Given the description of an element on the screen output the (x, y) to click on. 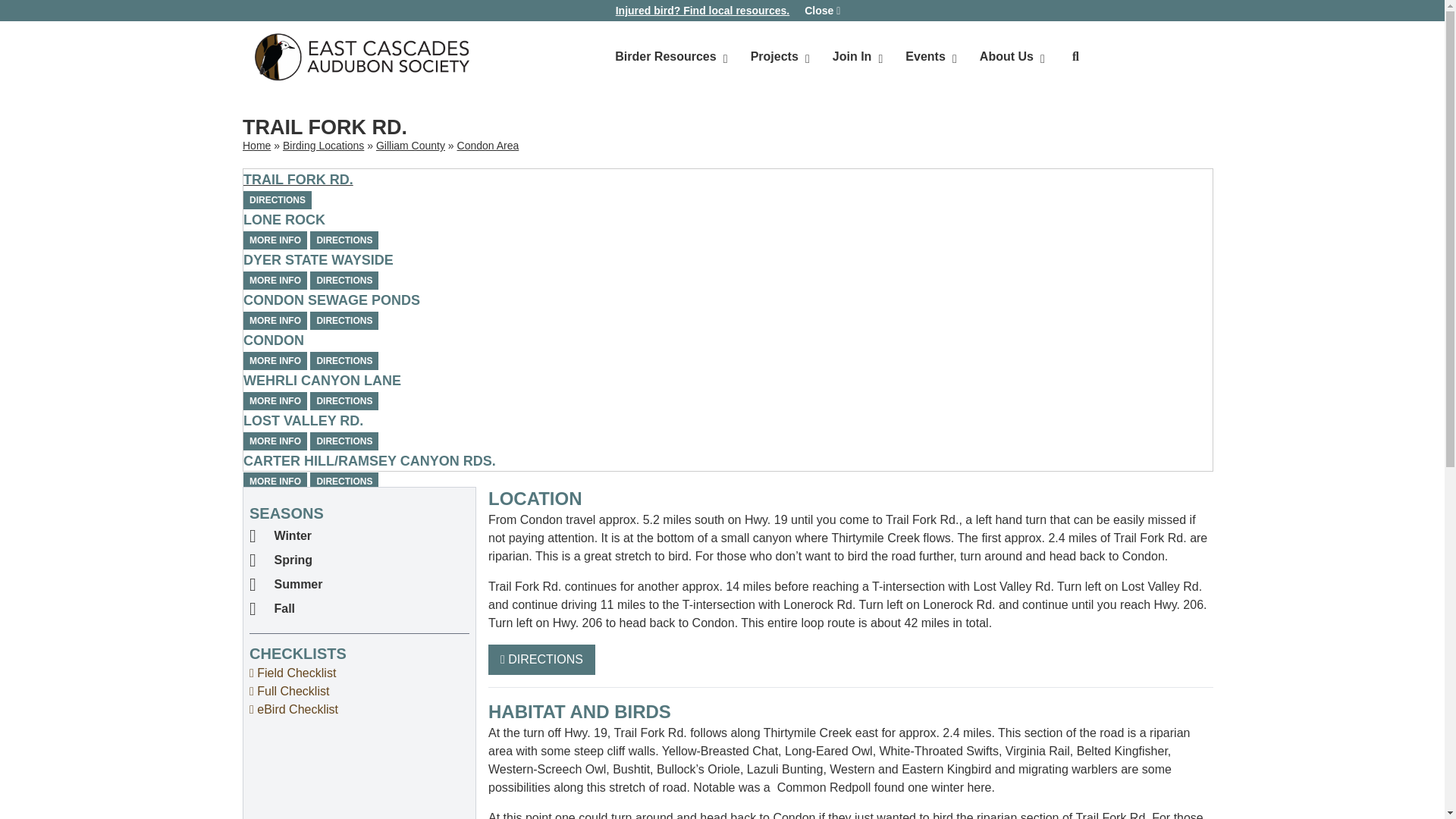
Injured bird? Find local resources. (702, 10)
Birder Resources (849, 56)
